Given the description of an element on the screen output the (x, y) to click on. 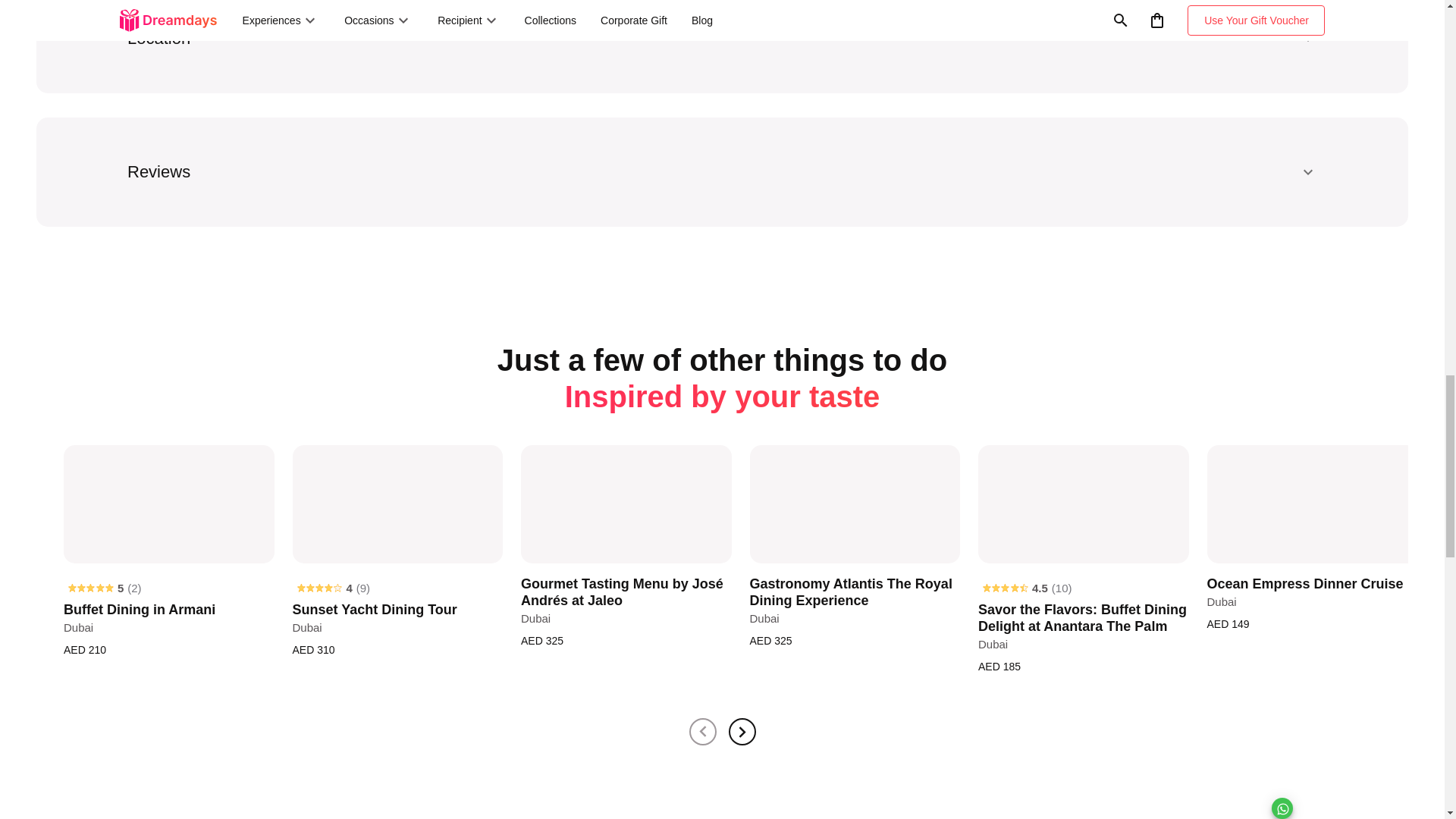
Ocean Empress Dinner Cruise (1312, 504)
Buffet Dining in Armani (169, 504)
Sunset Yacht Dining Tour (397, 504)
Gastronomy Atlantis The Royal Dining Experience (854, 504)
